Given the description of an element on the screen output the (x, y) to click on. 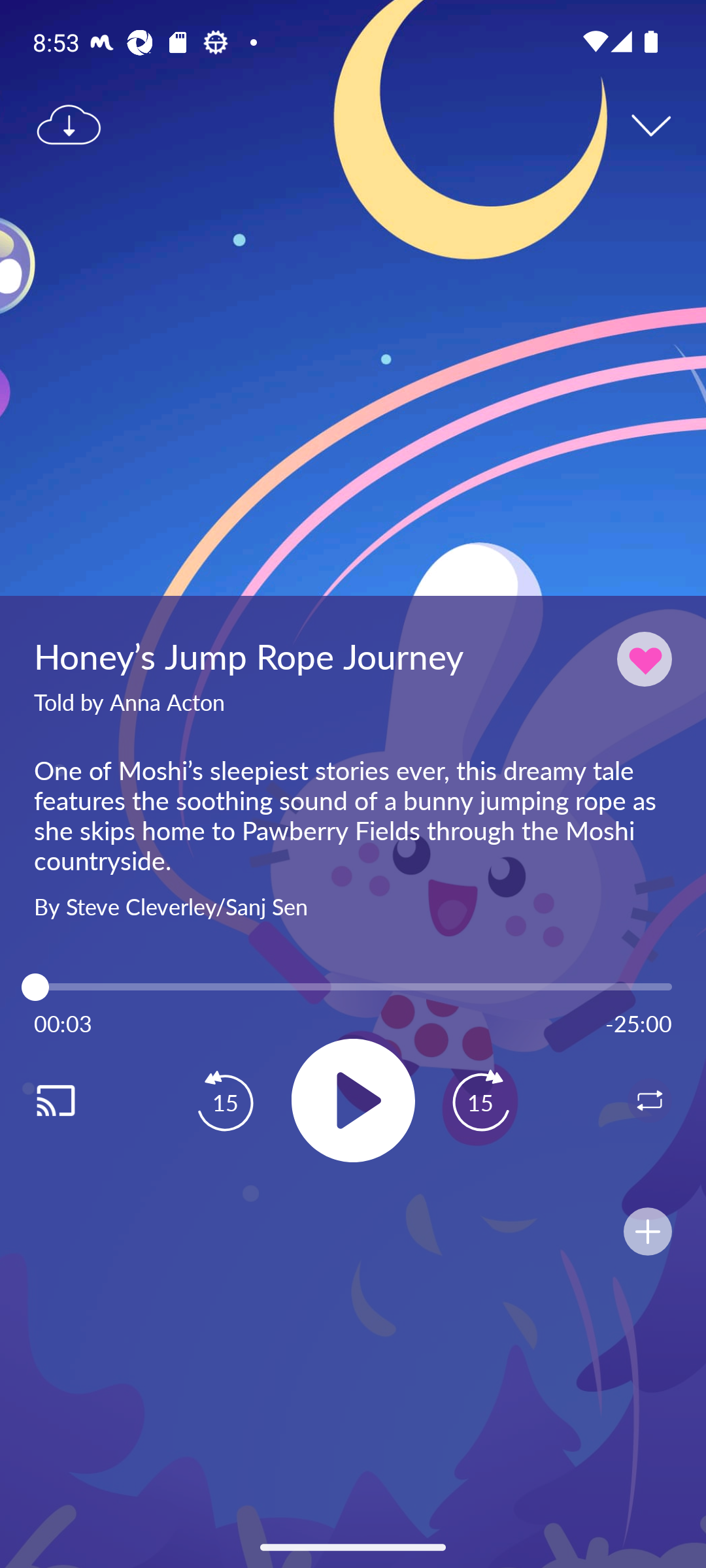
3.0 (352, 986)
Cast. Disconnected (76, 1100)
